Given the description of an element on the screen output the (x, y) to click on. 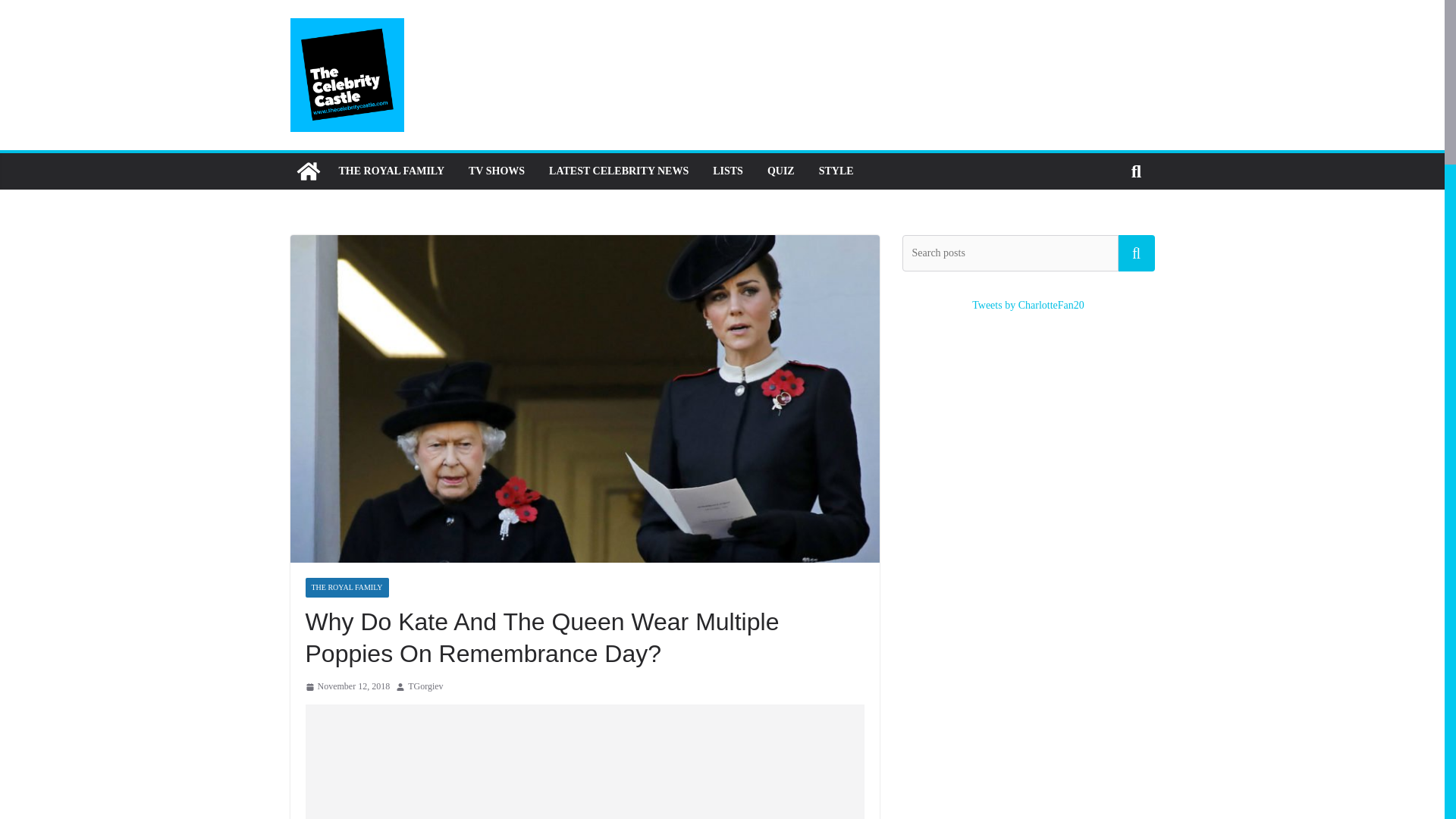
STYLE (835, 170)
12:05 am (347, 686)
TGorgiev (424, 686)
The Celebrity Castle (307, 171)
QUIZ (780, 170)
LISTS (727, 170)
Advertisement (583, 761)
TV SHOWS (496, 170)
Tweets by CharlotteFan20 (1028, 305)
Search (1136, 253)
TGorgiev (424, 686)
November 12, 2018 (347, 686)
THE ROYAL FAMILY (390, 170)
LATEST CELEBRITY NEWS (618, 170)
THE ROYAL FAMILY (346, 587)
